Given the description of an element on the screen output the (x, y) to click on. 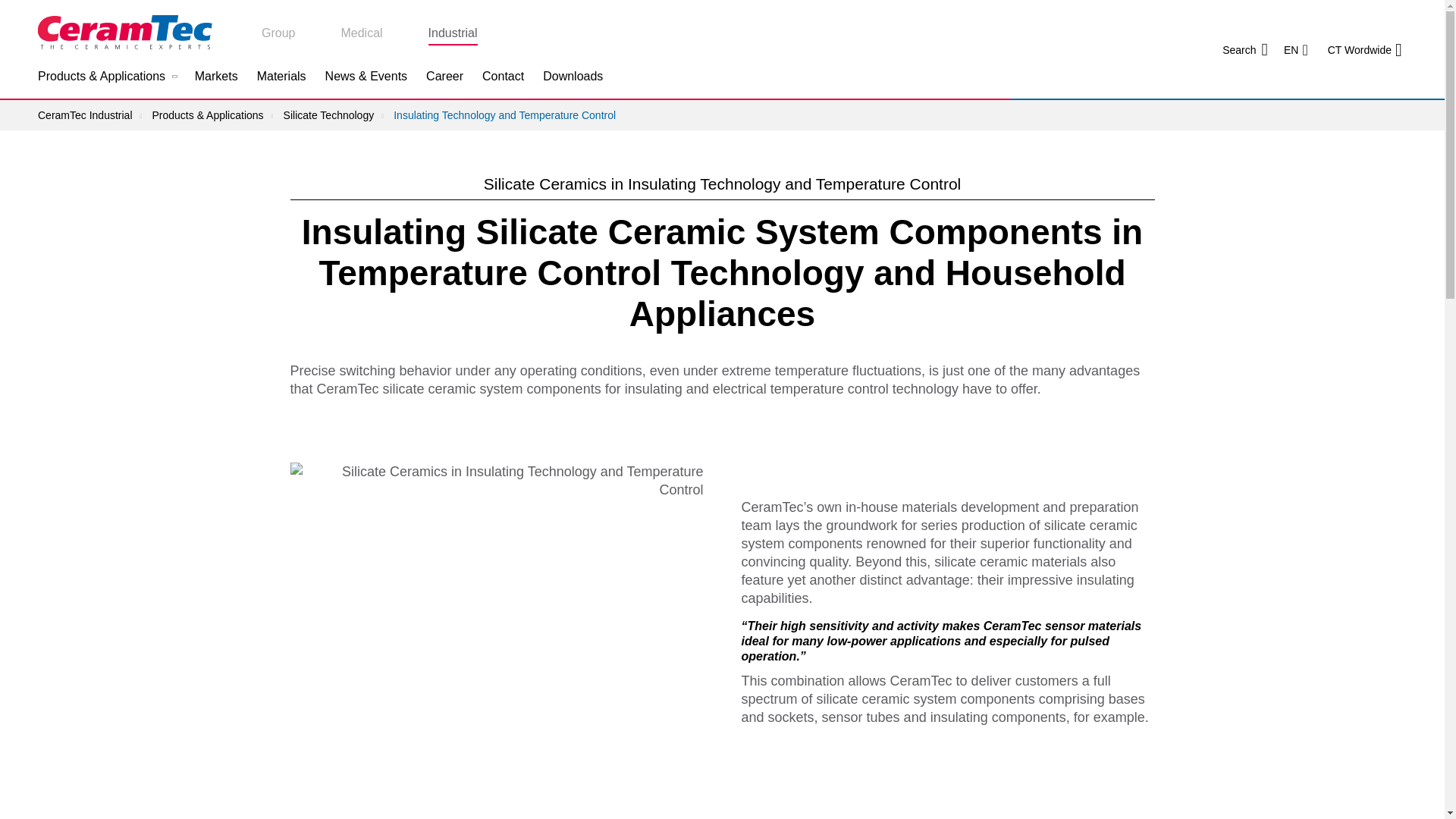
Industrial (452, 34)
Medical (361, 34)
Group (277, 34)
